Given the description of an element on the screen output the (x, y) to click on. 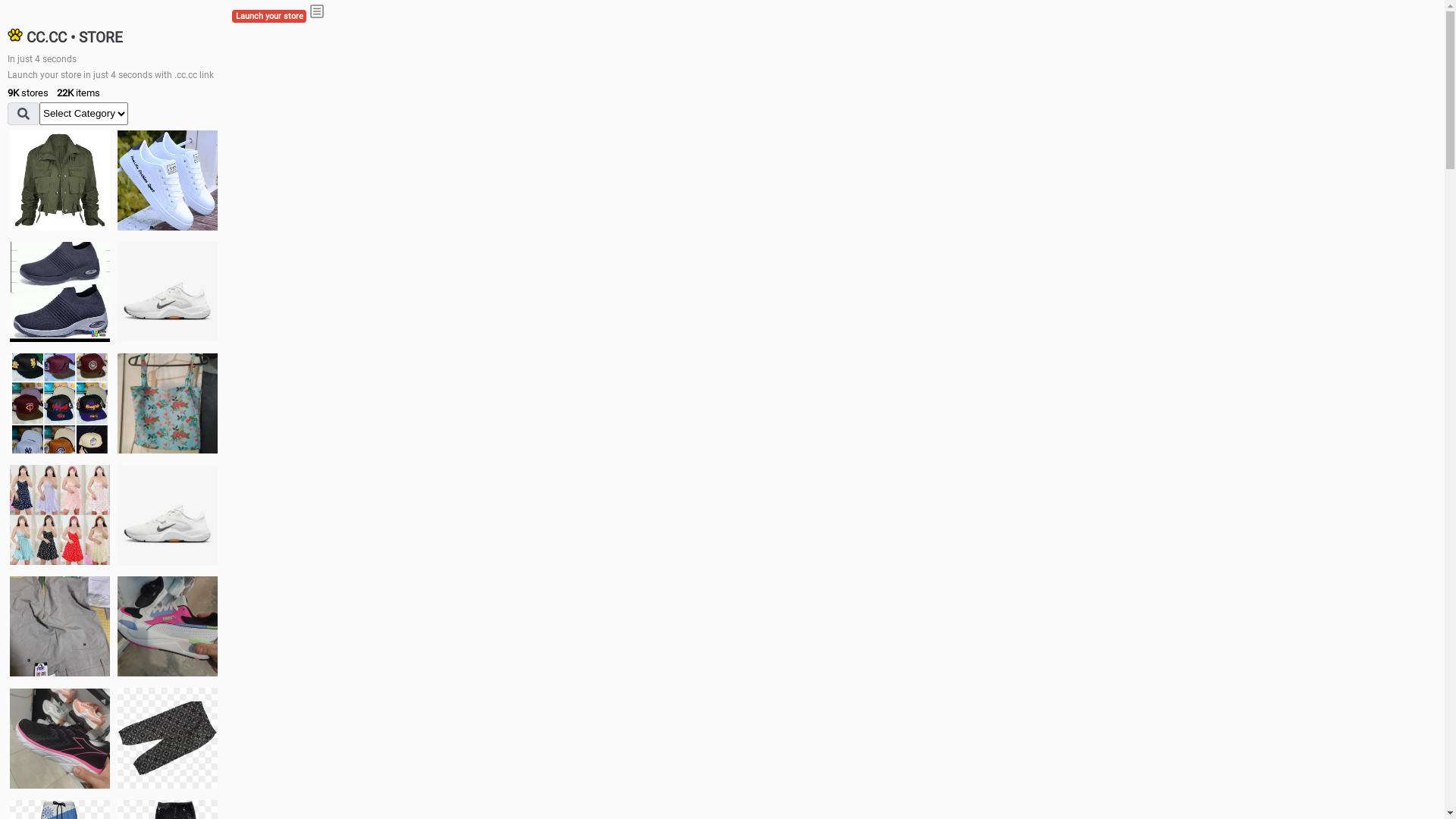
Dress/square nect top Element type: hover (59, 514)
white shoes Element type: hover (167, 180)
Shoes for boys Element type: hover (167, 291)
Short pant Element type: hover (167, 737)
Zapatillas Element type: hover (59, 738)
Launch your store Element type: text (269, 15)
Ukay cloth Element type: hover (167, 403)
Zapatillas pumas Element type: hover (167, 626)
shoes for boys Element type: hover (59, 291)
jacket Element type: hover (59, 180)
Shoes Element type: hover (167, 514)
Things we need Element type: hover (59, 403)
